Given the description of an element on the screen output the (x, y) to click on. 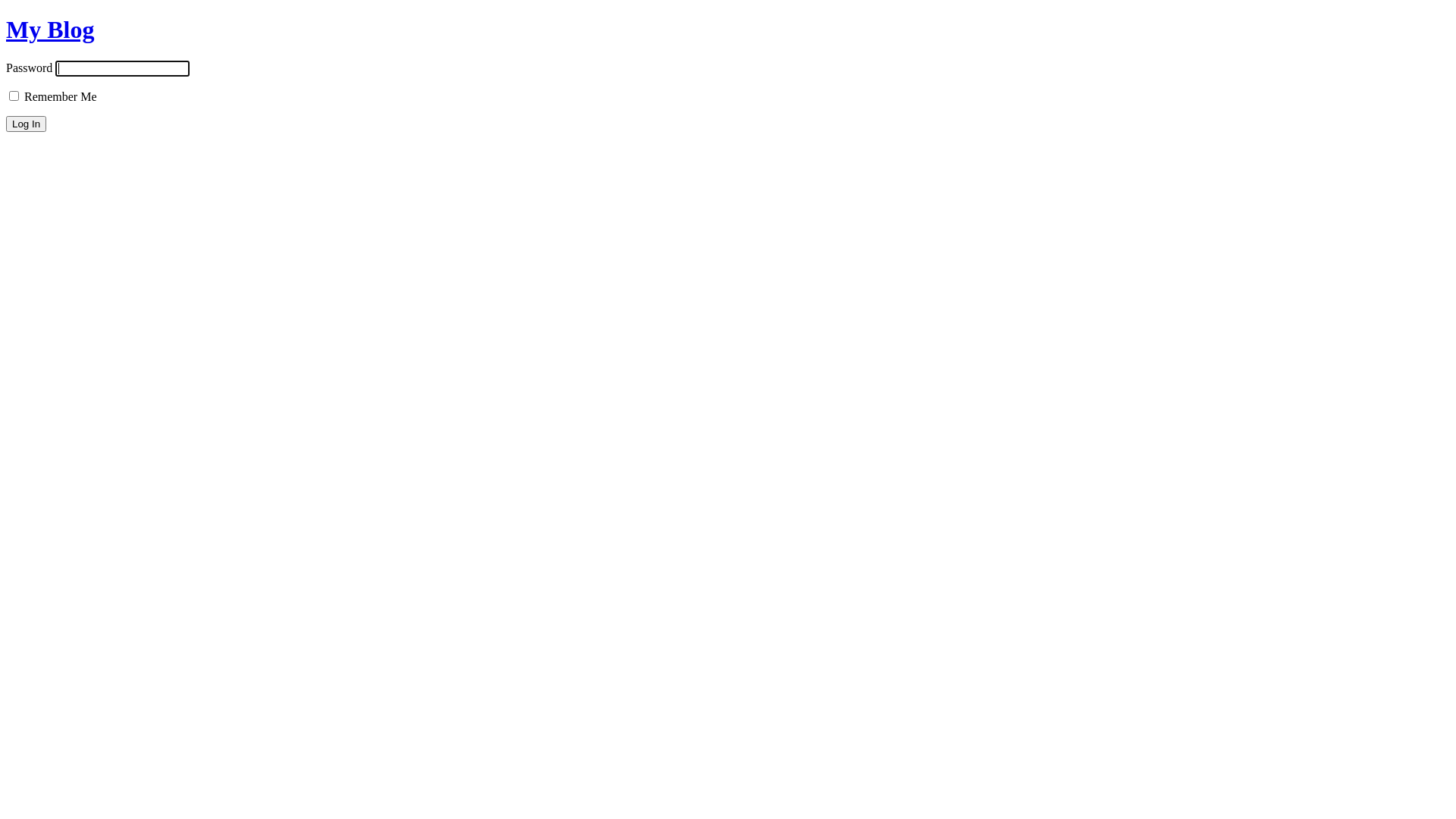
My Blog Element type: text (50, 29)
Log In Element type: text (26, 123)
